Given the description of an element on the screen output the (x, y) to click on. 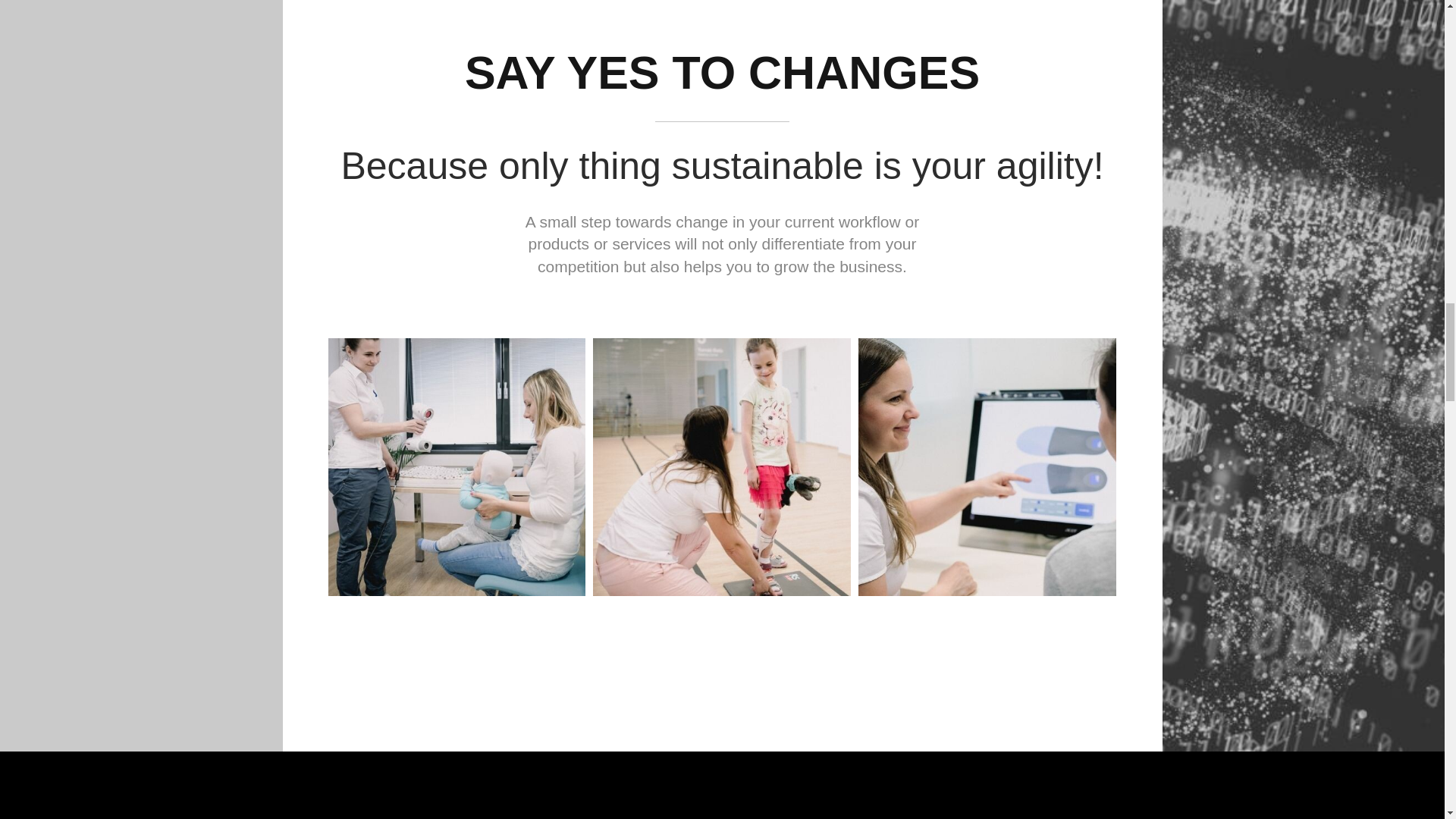
3 (974, 454)
1 (444, 454)
2 (708, 454)
